Given the description of an element on the screen output the (x, y) to click on. 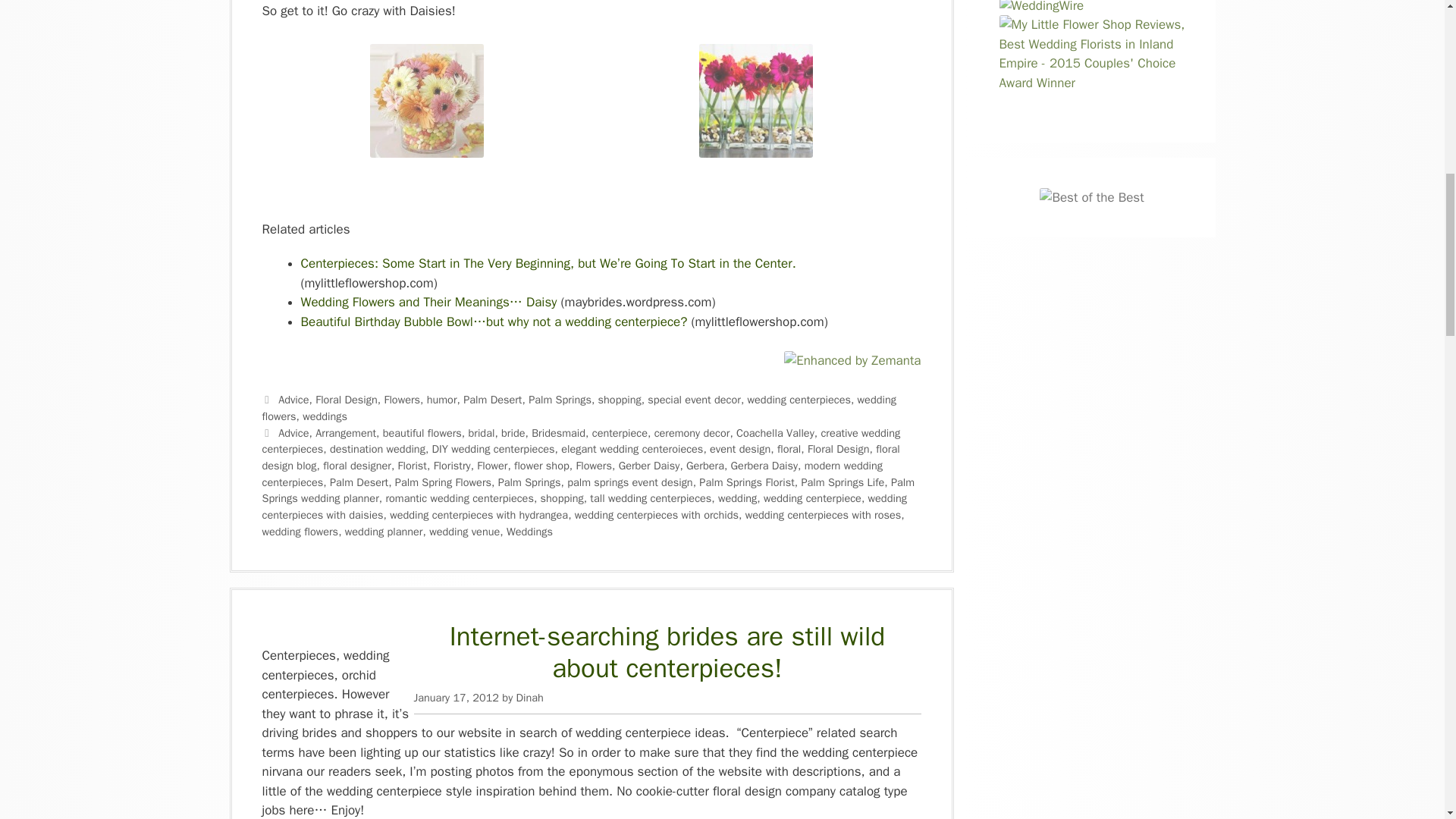
wedding centerpieces (799, 399)
Advice (293, 399)
Floral Design (346, 399)
View all posts by Dinah (529, 697)
WeddingWire (1041, 6)
wedding flowers (579, 408)
Flowers (402, 399)
Palm Springs (559, 399)
shopping (620, 399)
Palm Desert (492, 399)
humor (441, 399)
special event decor (694, 399)
